Given the description of an element on the screen output the (x, y) to click on. 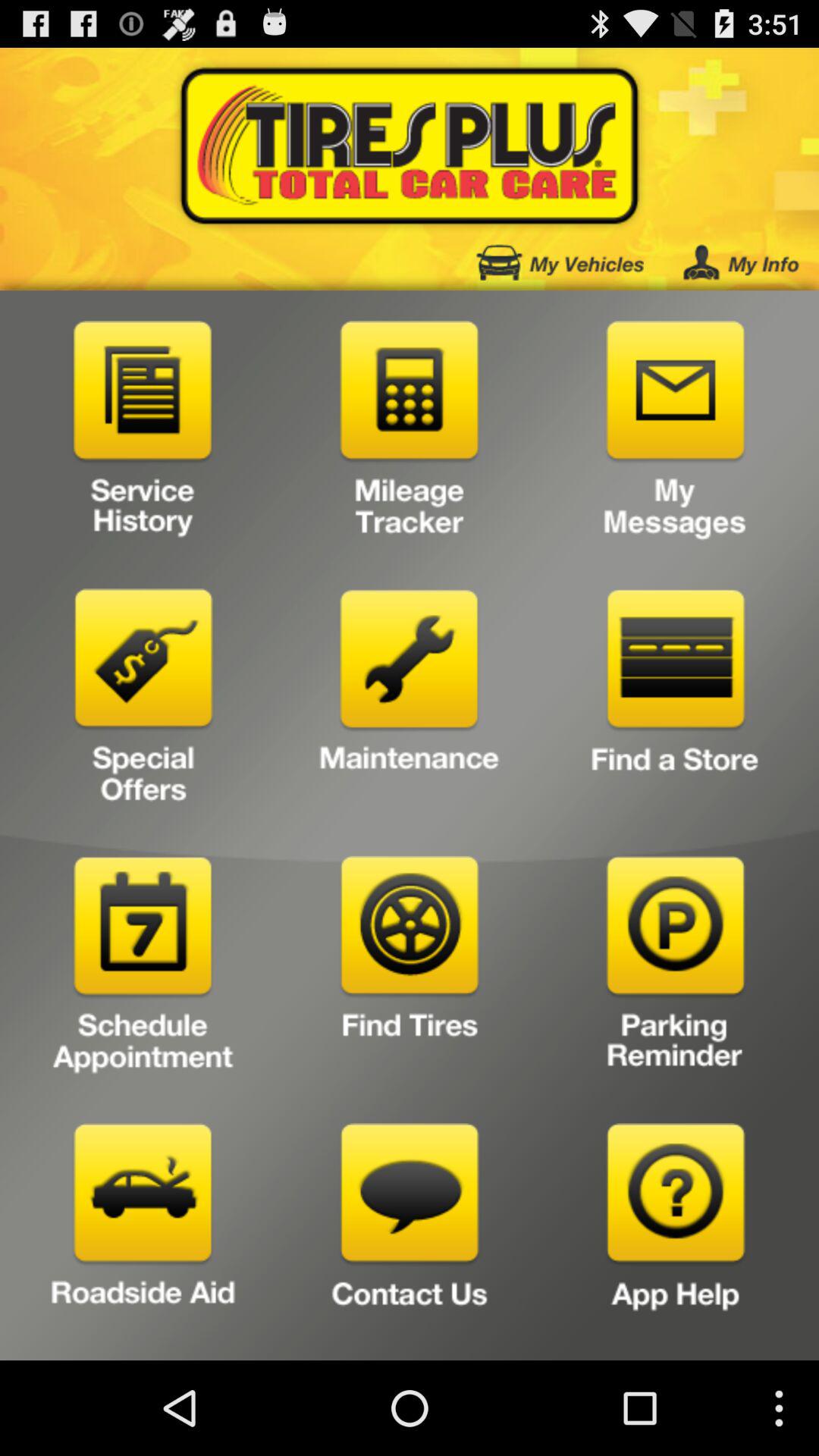
option button (675, 968)
